Given the description of an element on the screen output the (x, y) to click on. 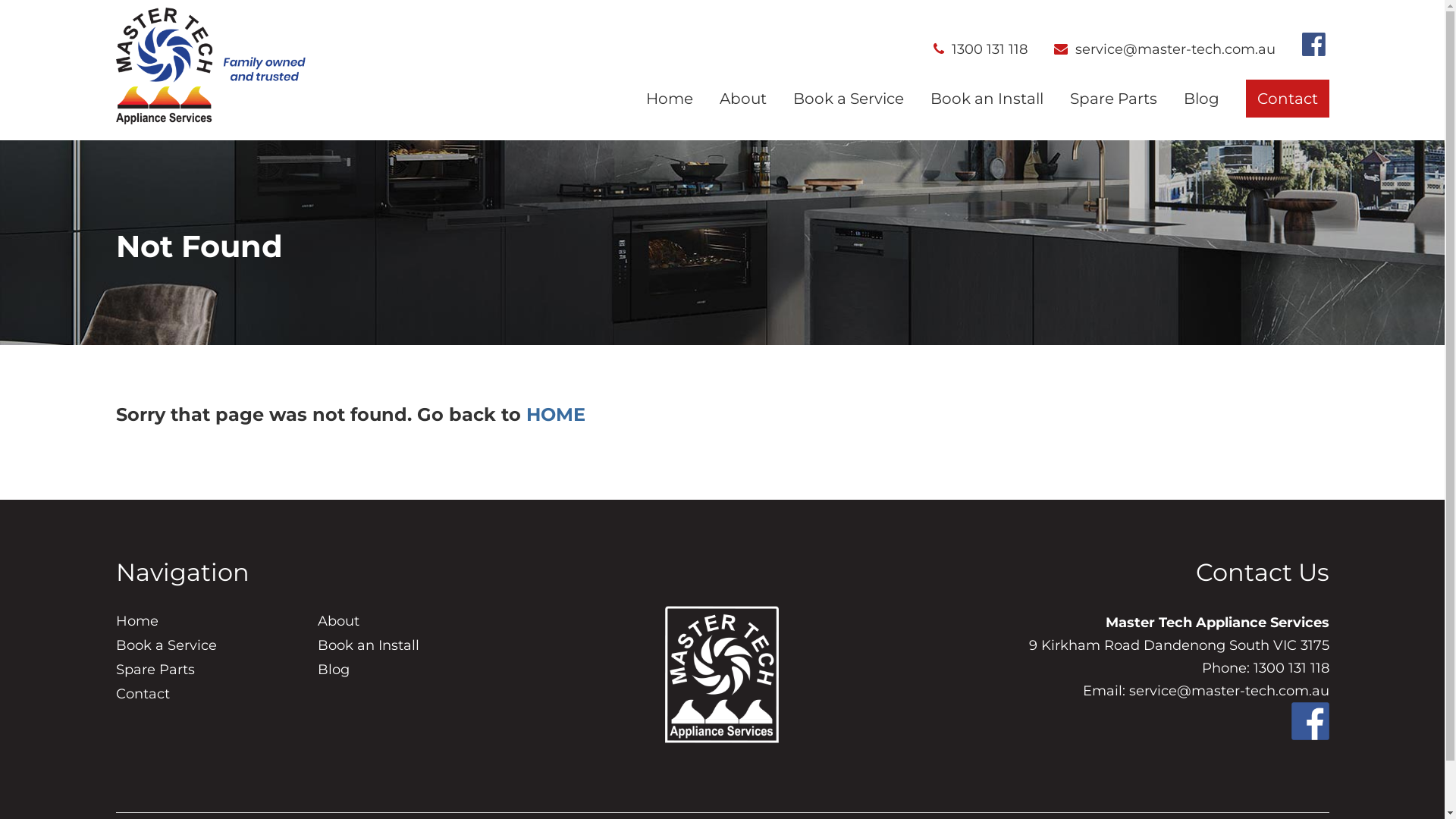
About Element type: text (741, 99)
Blog Element type: text (333, 669)
Contact Element type: text (1286, 99)
service@master-tech.com.au Element type: text (1164, 48)
HOME Element type: text (555, 414)
Home Element type: text (669, 99)
About Element type: text (338, 620)
Blog Element type: text (1200, 99)
Spare Parts Element type: text (154, 669)
Book a Service Element type: text (165, 645)
Book an Install Element type: text (985, 99)
Book an Install Element type: text (368, 645)
Contact Element type: text (142, 693)
Book a Service Element type: text (848, 99)
Spare Parts Element type: text (1112, 99)
1300 131 118 Element type: text (979, 48)
Home Element type: text (136, 620)
